Given the description of an element on the screen output the (x, y) to click on. 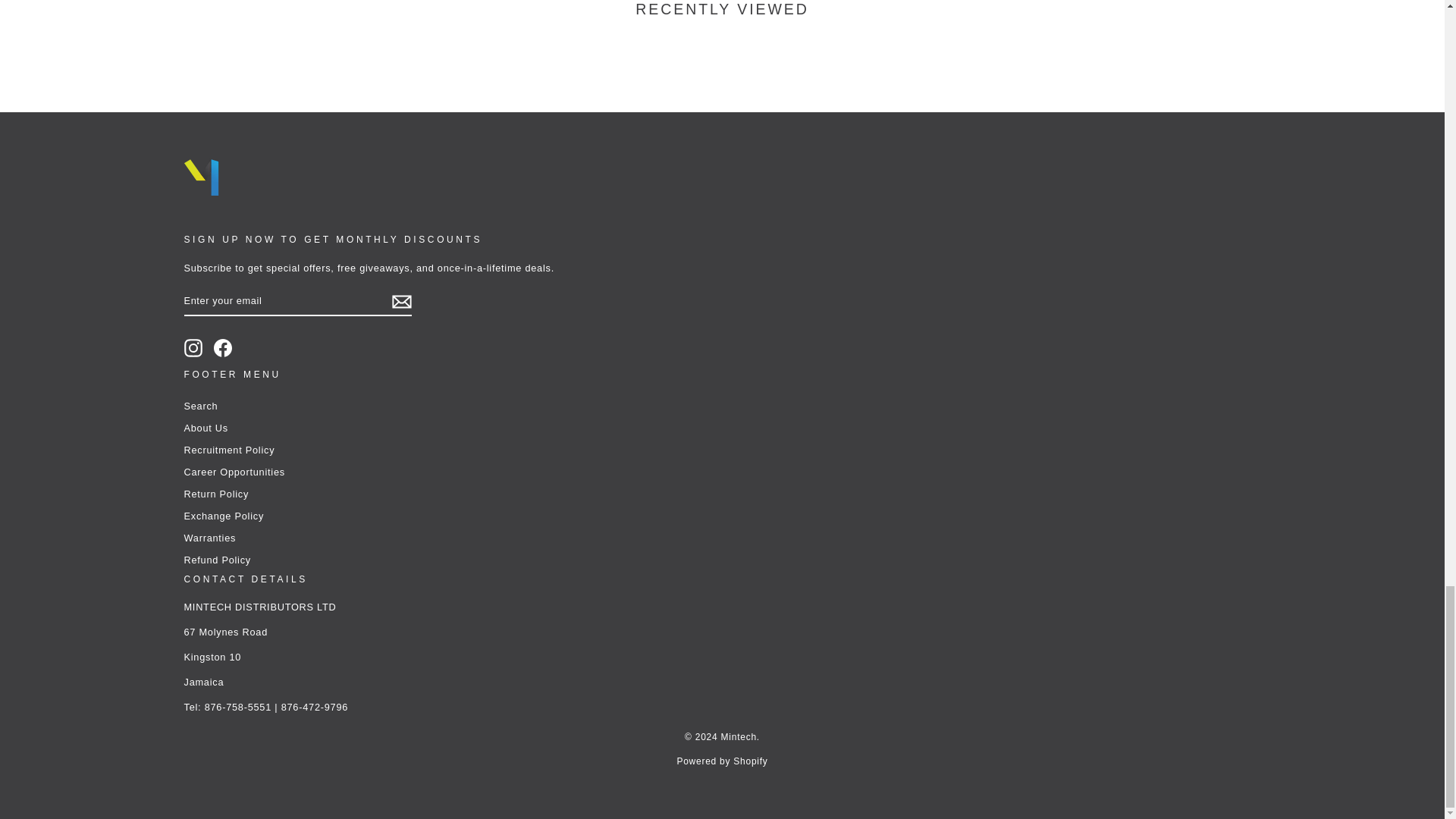
Mintech. on Facebook (222, 348)
Mintech. on Instagram (192, 348)
